Given the description of an element on the screen output the (x, y) to click on. 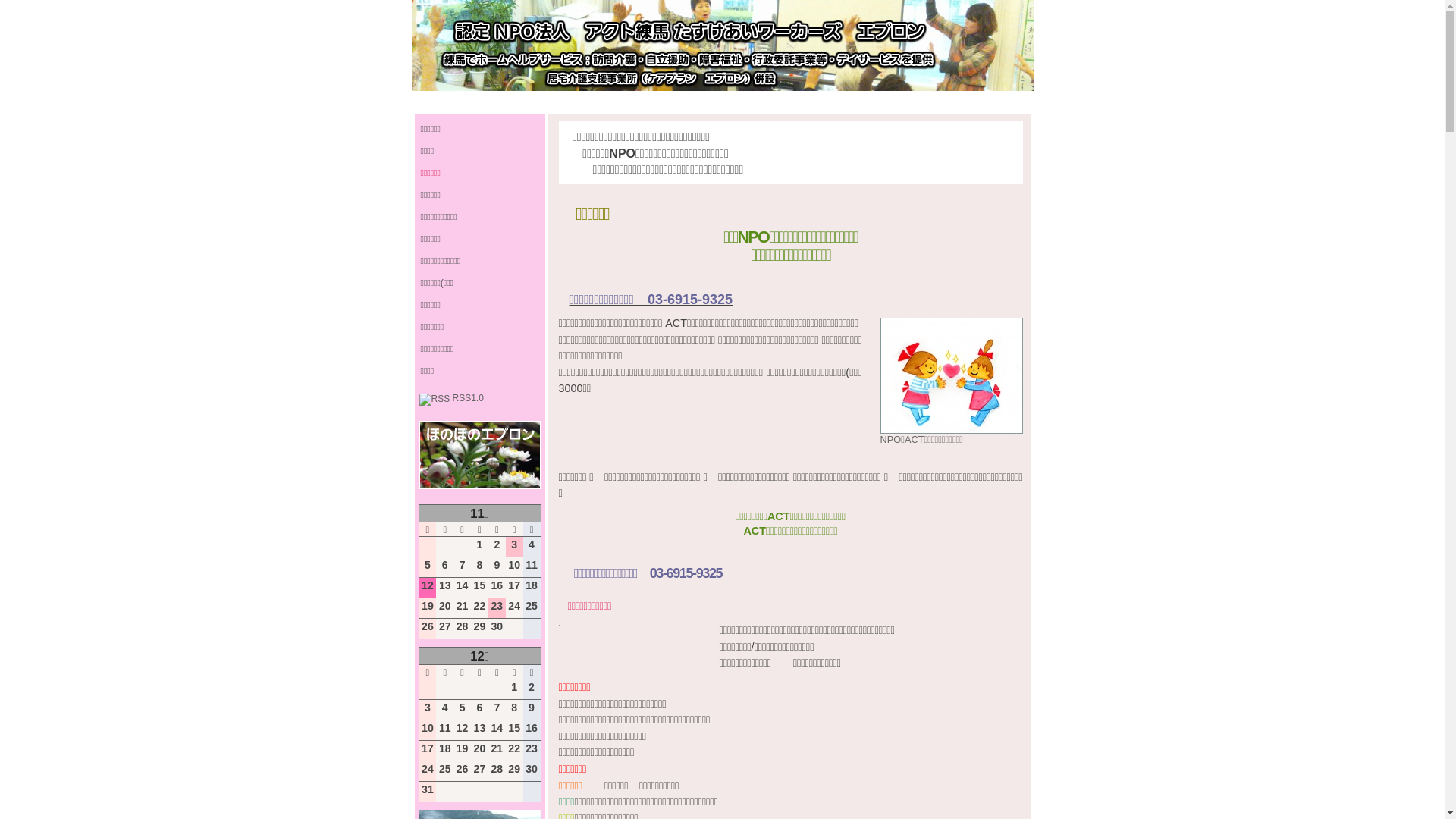
 RSS1.0 Element type: text (450, 397)
